Given the description of an element on the screen output the (x, y) to click on. 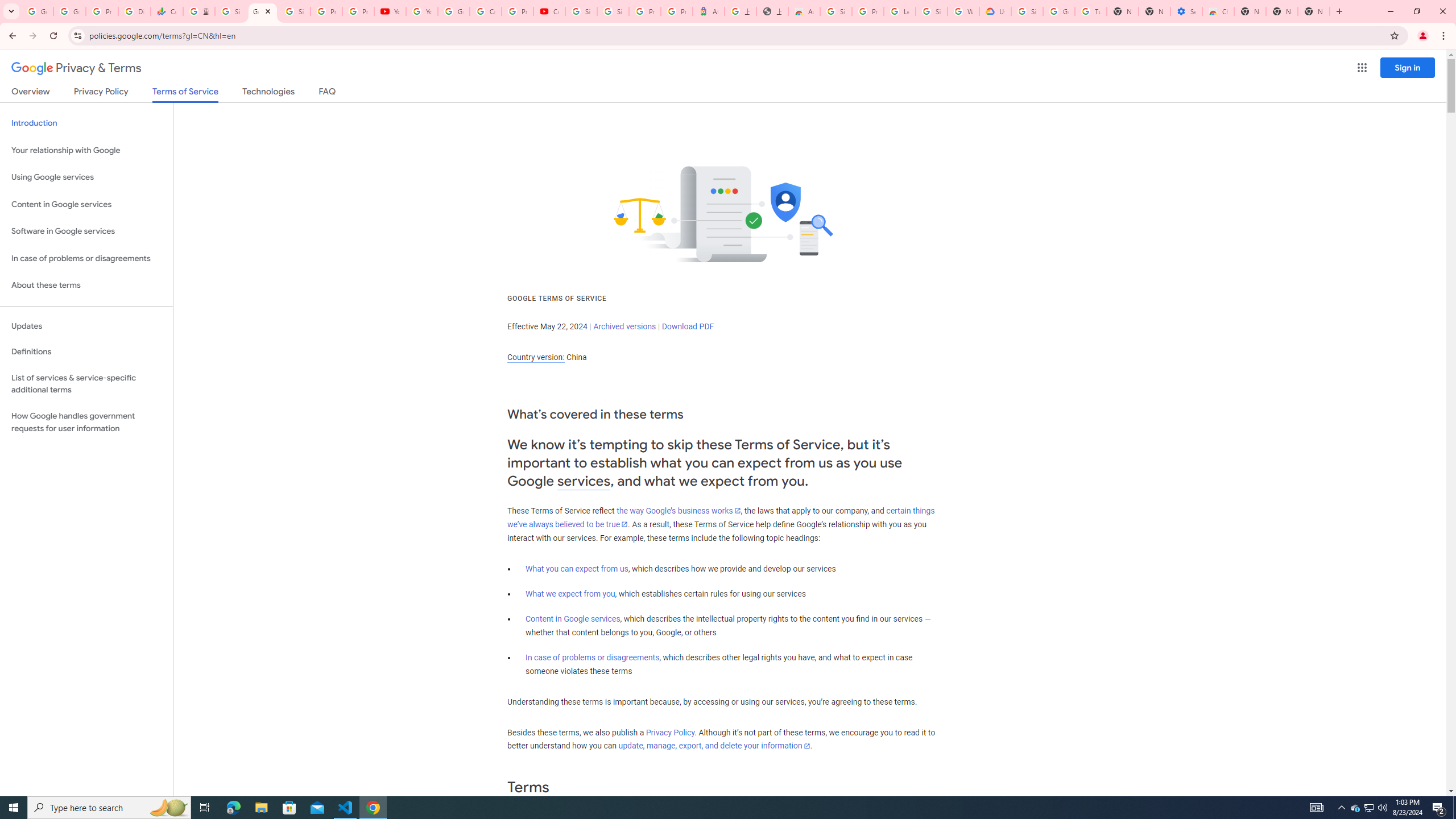
Turn cookies on or off - Computer - Google Account Help (1091, 11)
Currencies - Google Finance (166, 11)
Sign in - Google Accounts (613, 11)
Create your Google Account (485, 11)
YouTube (389, 11)
Awesome Screen Recorder & Screenshot - Chrome Web Store (804, 11)
Country version: (535, 357)
